Given the description of an element on the screen output the (x, y) to click on. 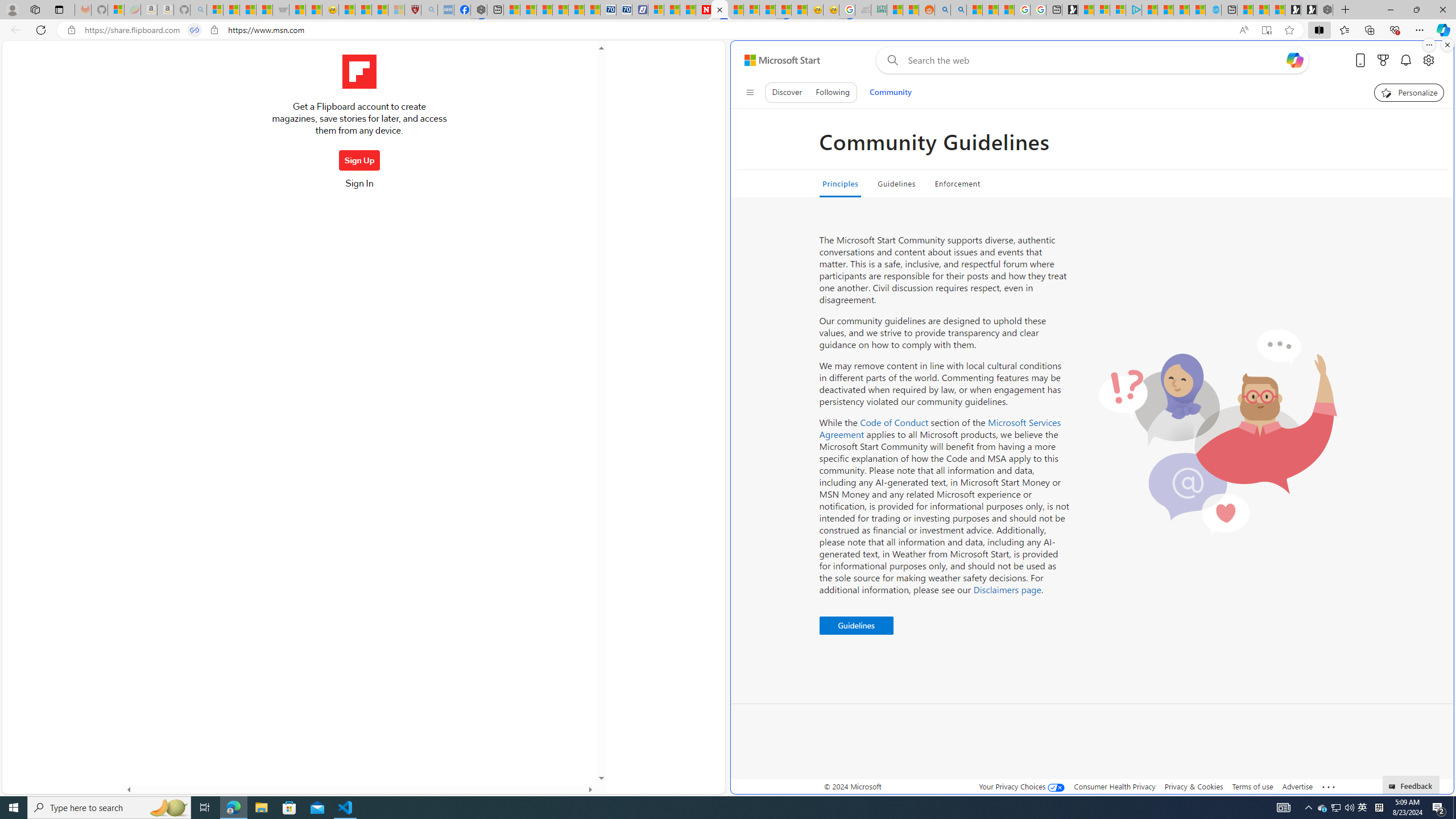
Play Free Online Games | Games from Microsoft Start (1308, 9)
Code of Conduct (894, 422)
Community (889, 92)
Enforcement (956, 183)
